Given the description of an element on the screen output the (x, y) to click on. 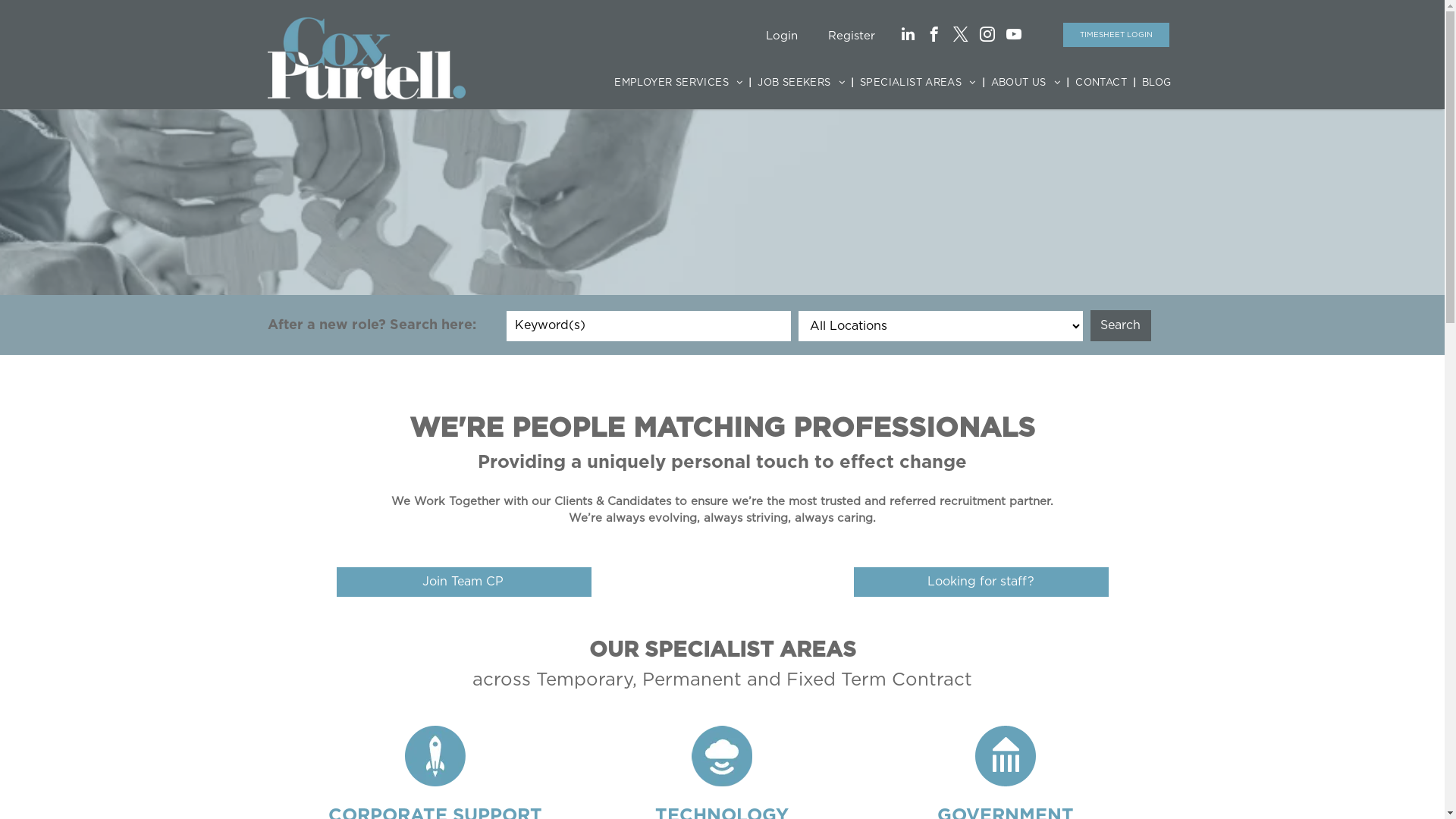
Join Team CP Element type: text (463, 581)
Search Element type: text (1120, 325)
SPECIALIST AREAS Element type: text (917, 82)
EMPLOYER SERVICES Element type: text (678, 82)
CONTACT Element type: text (1100, 82)
Looking for staff? Element type: text (980, 581)
TIMESHEET LOGIN Element type: text (1116, 34)
JOB SEEKERS Element type: text (800, 82)
Register Element type: text (851, 36)
Login Element type: text (781, 36)
BLOG Element type: text (1156, 82)
ABOUT US Element type: text (1025, 82)
